Given the description of an element on the screen output the (x, y) to click on. 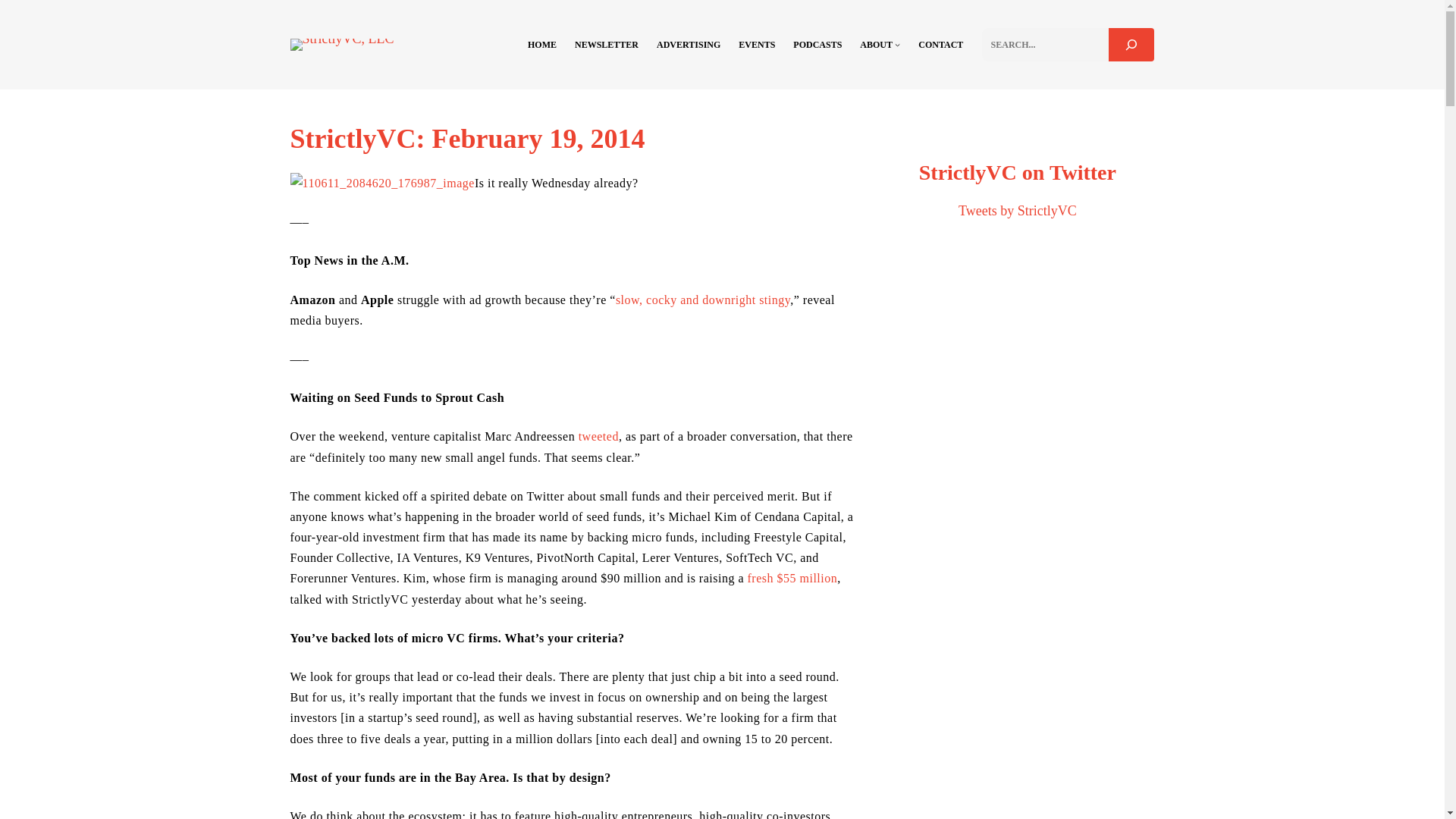
slow, cocky and downright stingy (702, 299)
ADVERTISING (688, 44)
NEWSLETTER (607, 44)
HOME (541, 44)
EVENTS (756, 44)
PODCASTS (817, 44)
tweeted (598, 436)
CONTACT (940, 44)
ABOUT (876, 44)
